Given the description of an element on the screen output the (x, y) to click on. 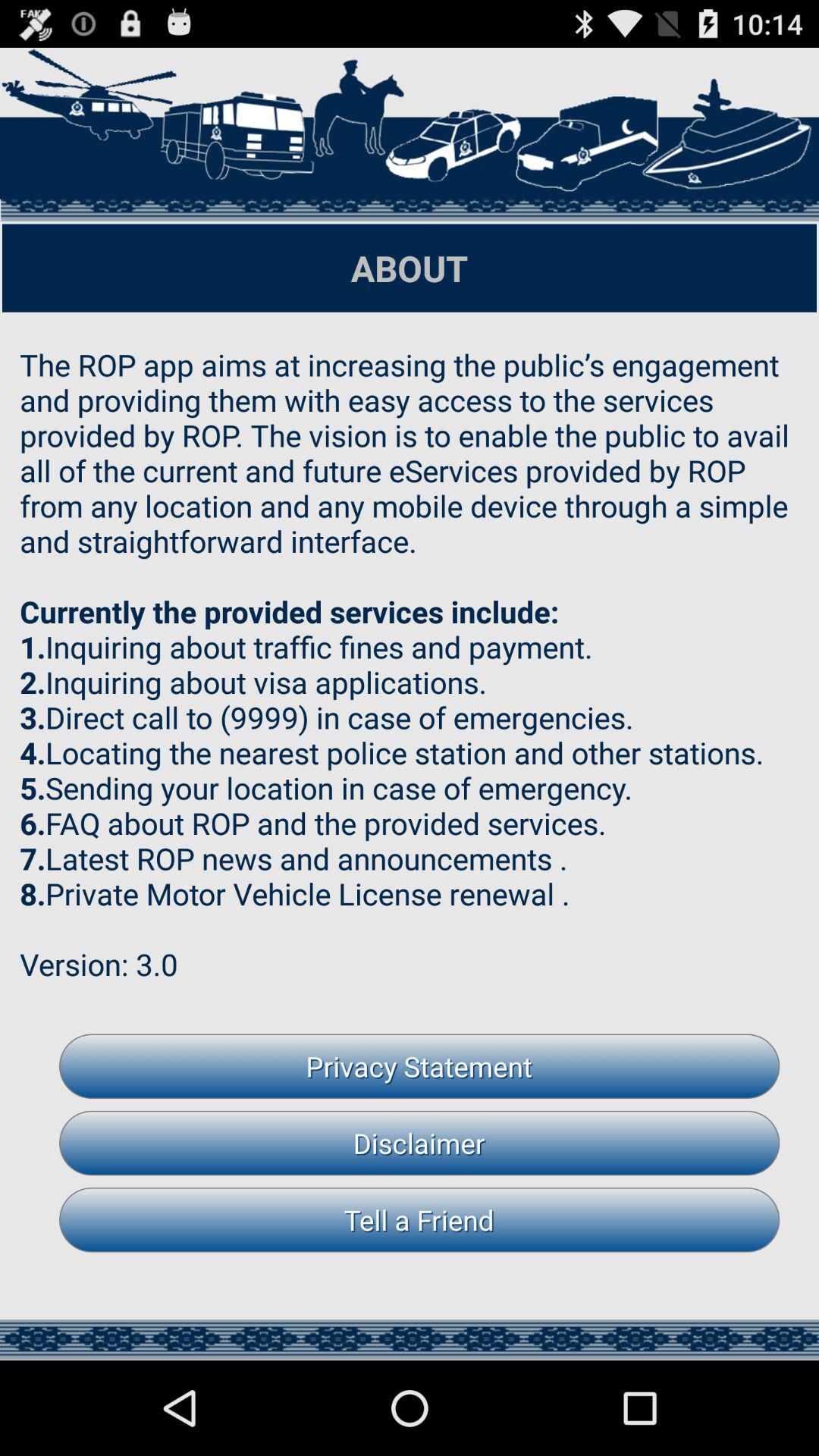
scroll until the privacy statement (419, 1065)
